Given the description of an element on the screen output the (x, y) to click on. 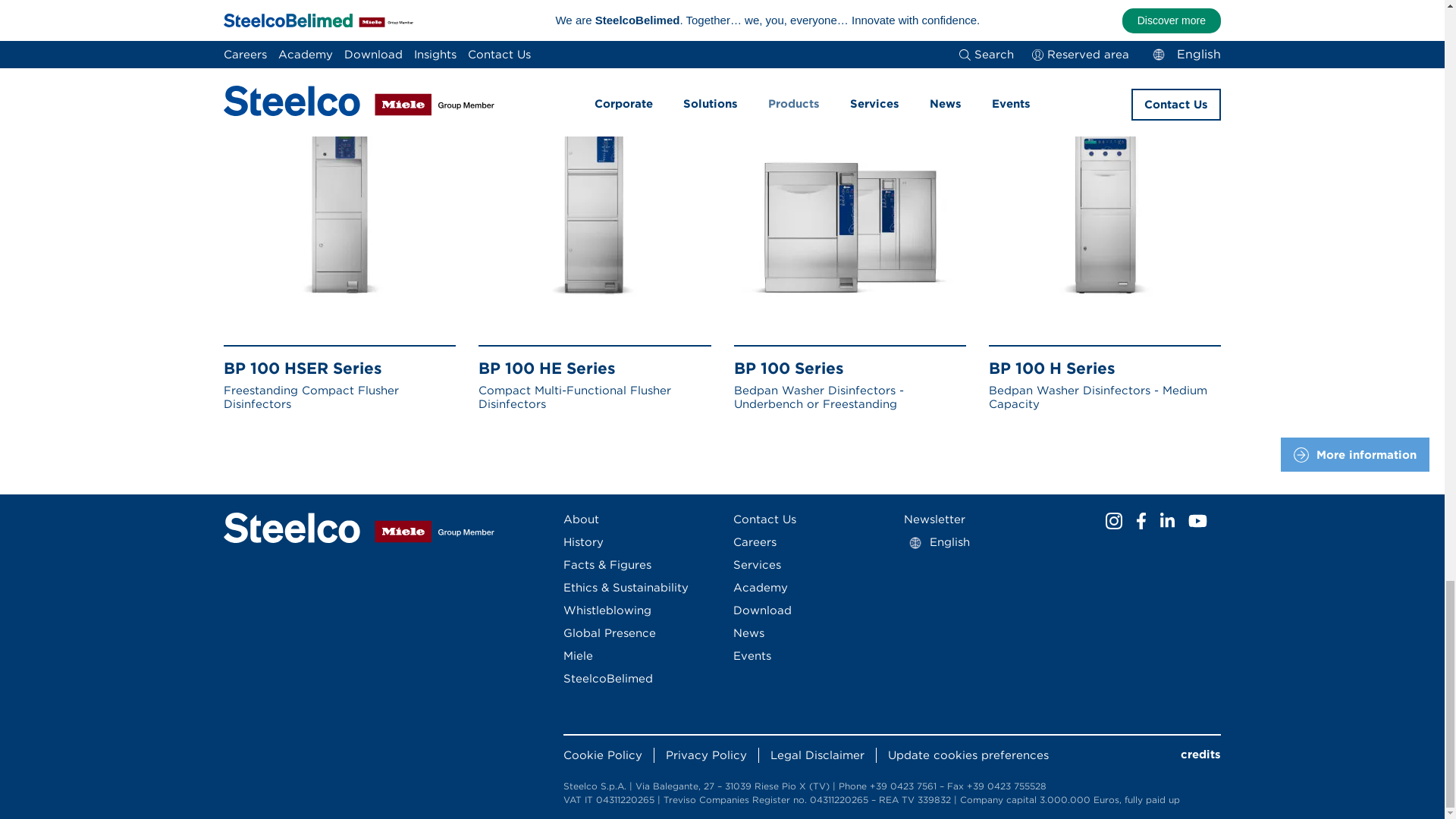
instagram (1113, 520)
